Given the description of an element on the screen output the (x, y) to click on. 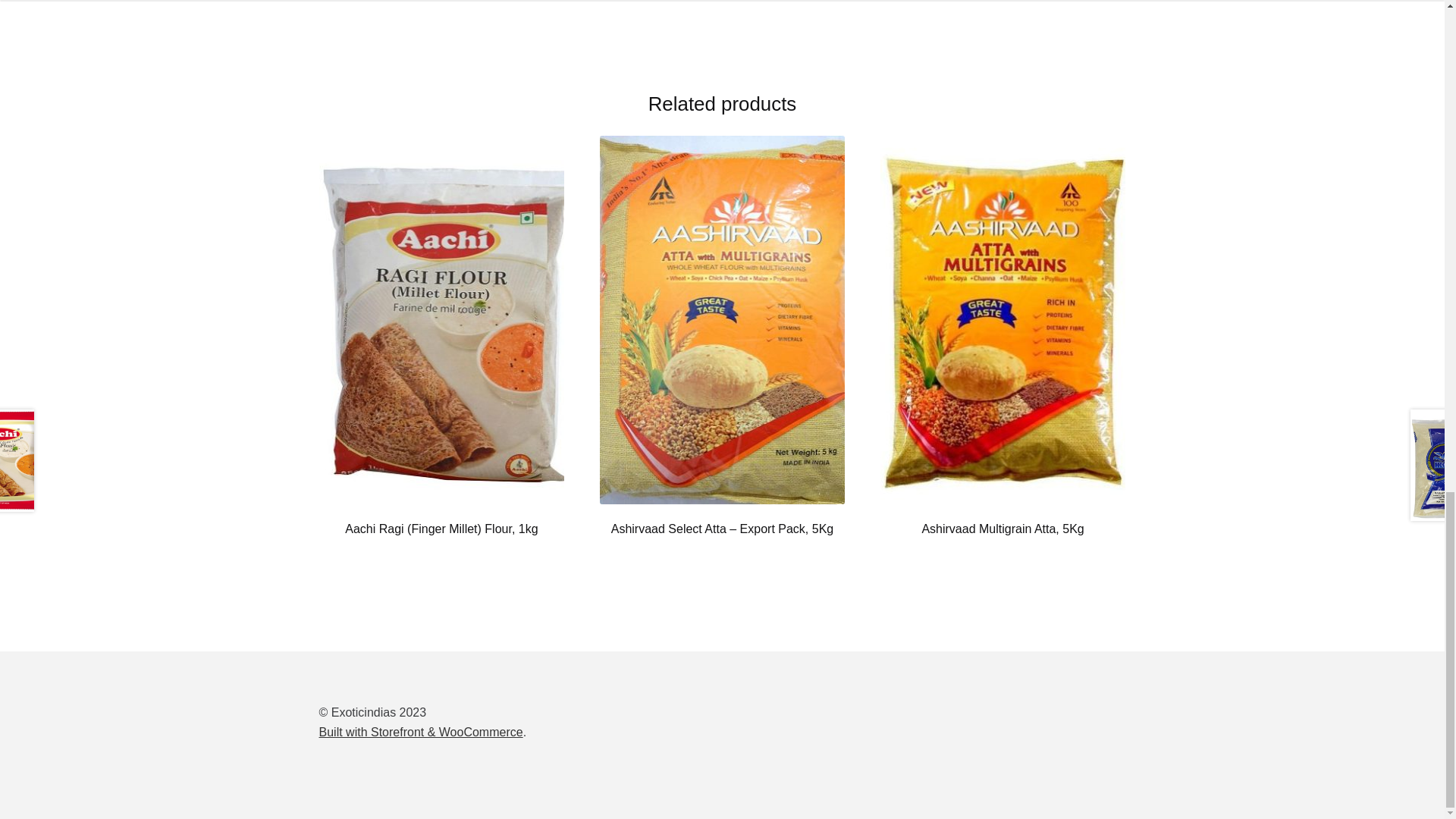
WooCommerce - The Best eCommerce Platform for WordPress (420, 731)
